Given the description of an element on the screen output the (x, y) to click on. 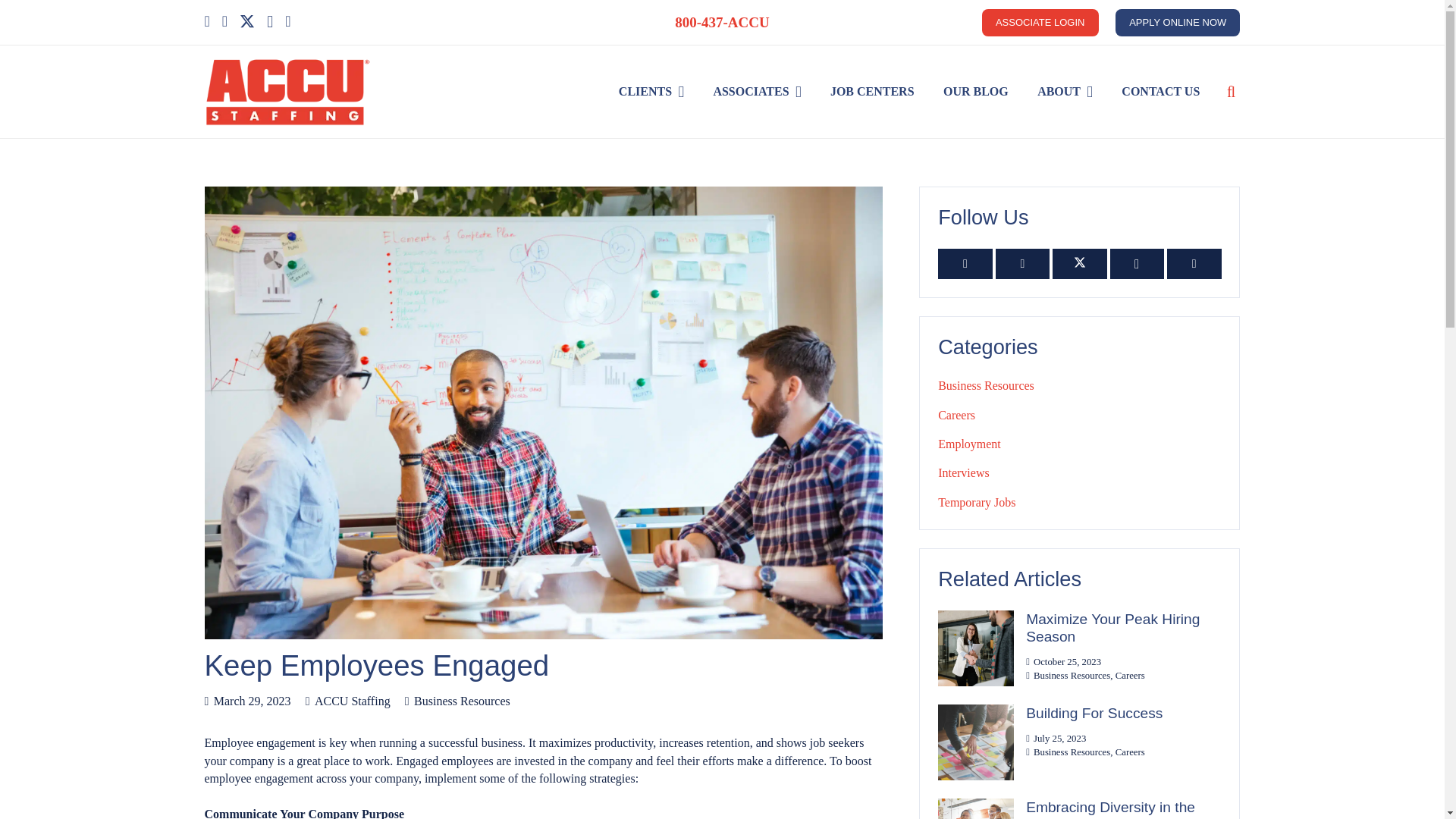
ASSOCIATE LOGIN (1040, 22)
Email (964, 263)
Twitter (1079, 263)
ASSOCIATES (756, 91)
OUR BLOG (975, 91)
800-437-ACCU (722, 22)
Twitter (247, 21)
Facebook (1022, 263)
ABOUT (1064, 91)
APPLY ONLINE NOW (1177, 22)
